Given the description of an element on the screen output the (x, y) to click on. 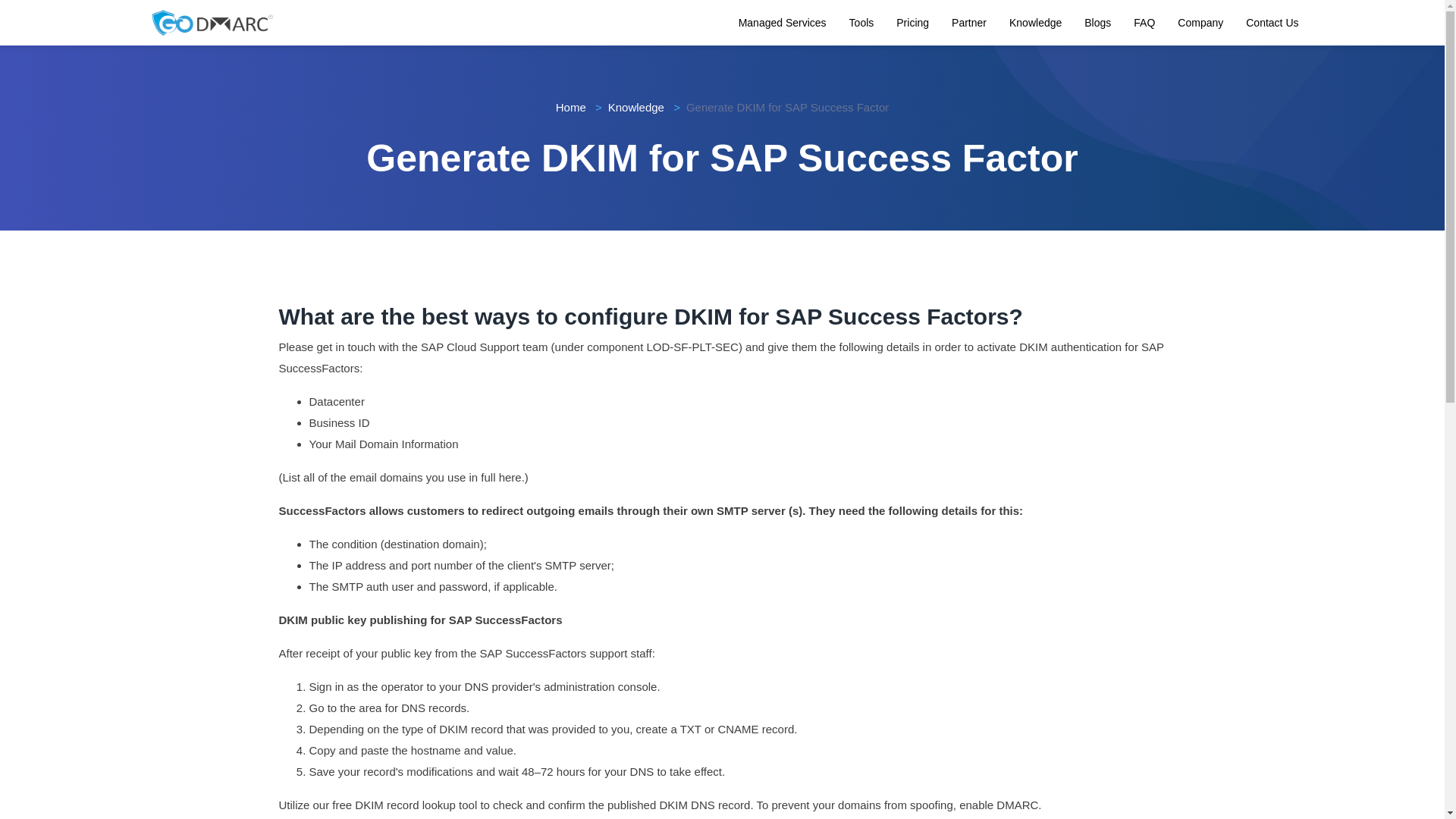
Company (1200, 22)
Knowledge (635, 106)
Tools (861, 22)
Partner (969, 22)
Managed Services (782, 22)
Partner (969, 22)
Contact Us (1272, 22)
FAQ (1144, 22)
Home (571, 106)
Pages (782, 22)
